Given the description of an element on the screen output the (x, y) to click on. 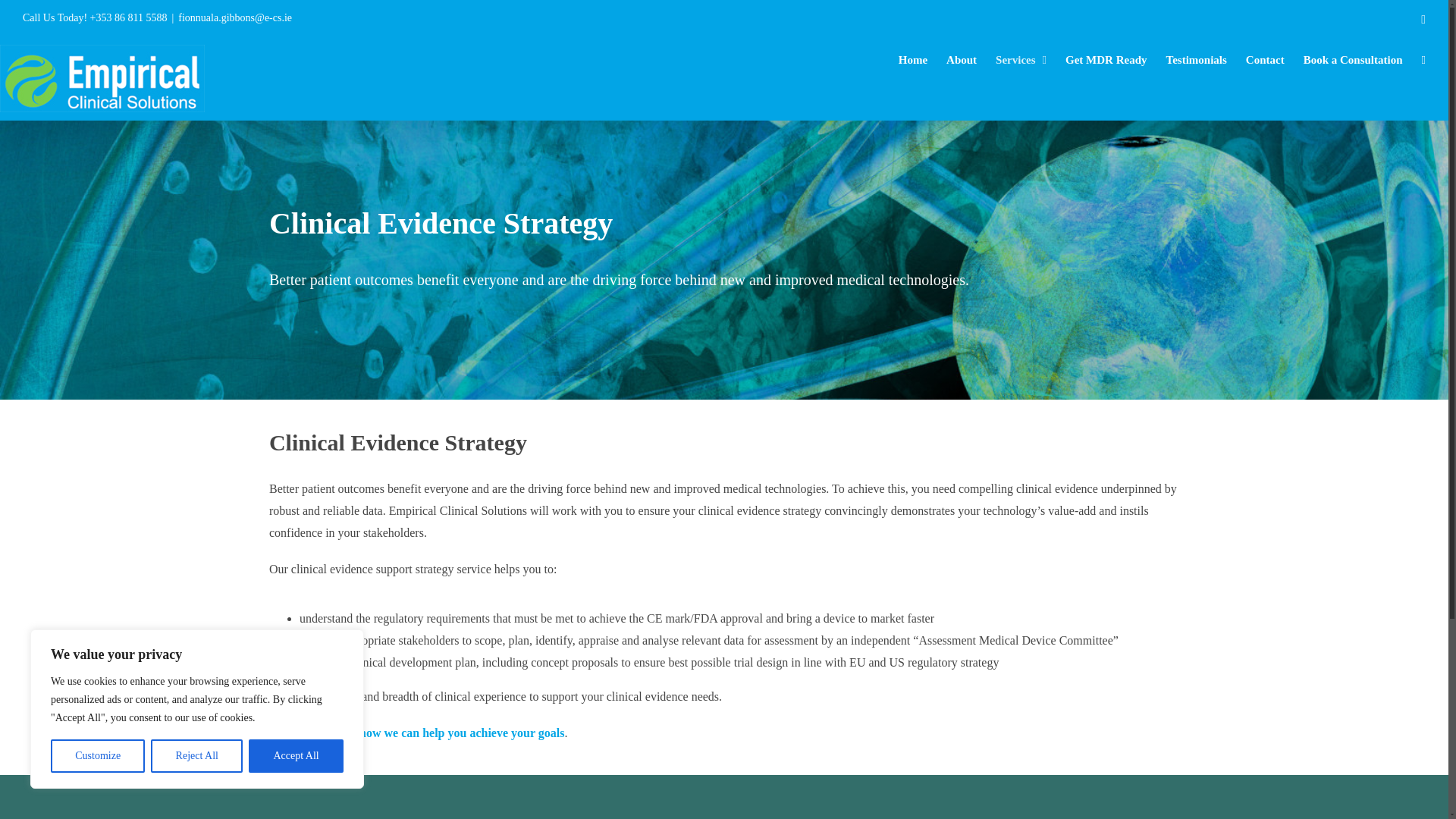
LinkedIn (1423, 19)
Get MDR Ready (1106, 60)
Home (912, 60)
About (961, 60)
Reject All (197, 756)
Contact (1265, 60)
Testimonials (1196, 60)
Book a Consultation (1353, 60)
Customize (97, 756)
Accept All (295, 756)
Services (1020, 60)
